Given the description of an element on the screen output the (x, y) to click on. 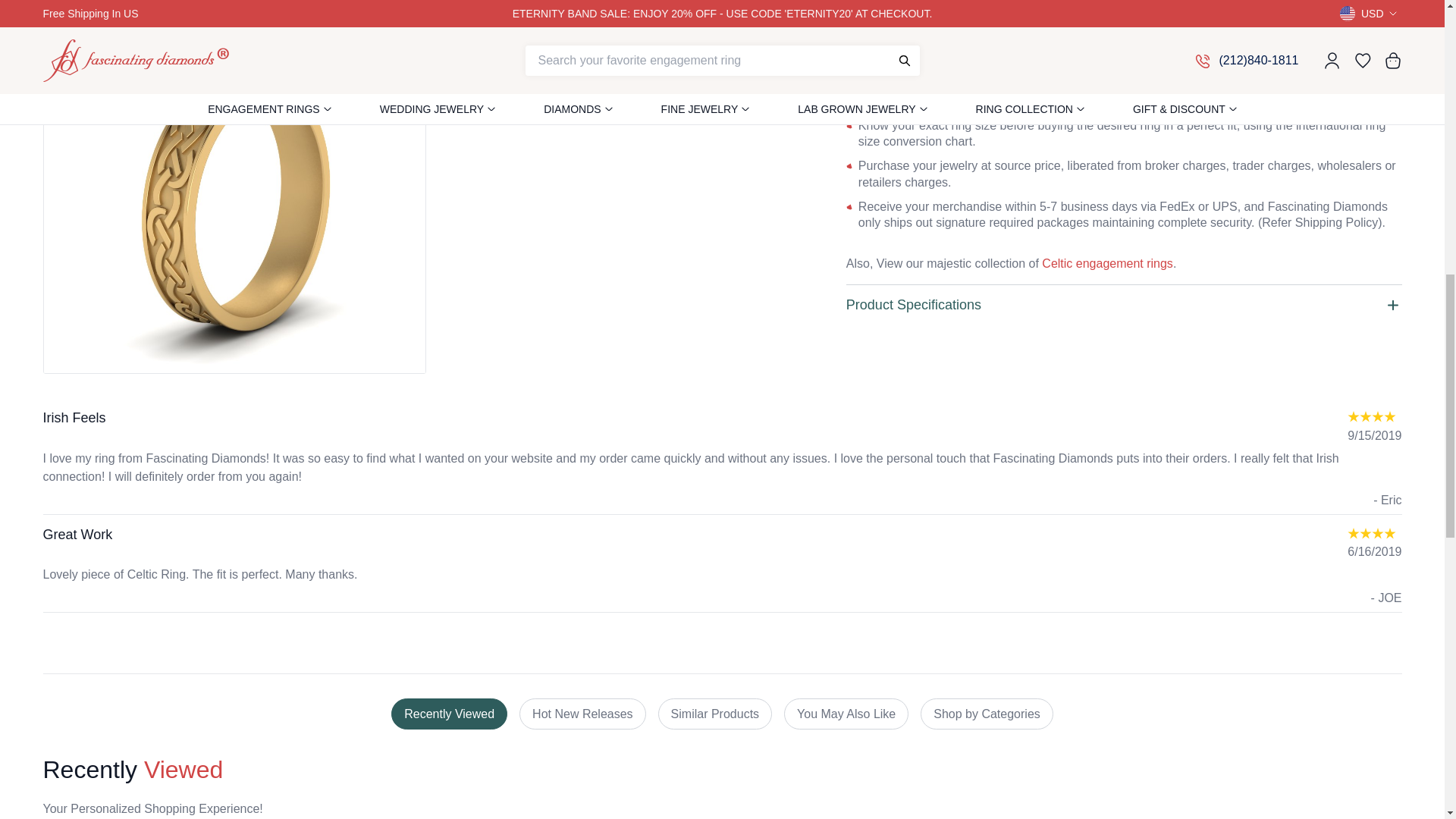
celtic mens wedding ring in FDM8569BANGLE2 NL YG (234, 70)
